Given the description of an element on the screen output the (x, y) to click on. 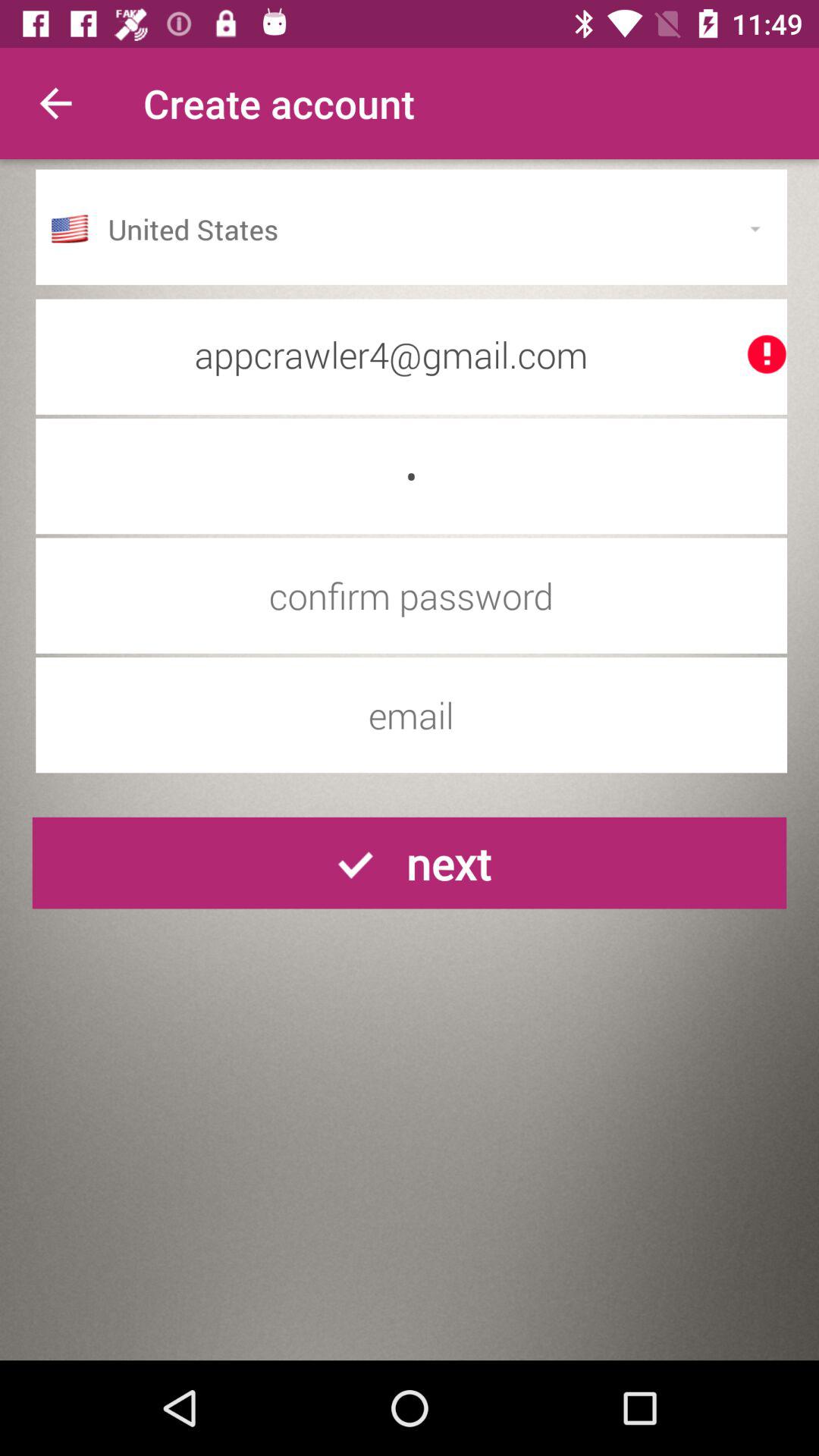
enter email address (411, 715)
